Given the description of an element on the screen output the (x, y) to click on. 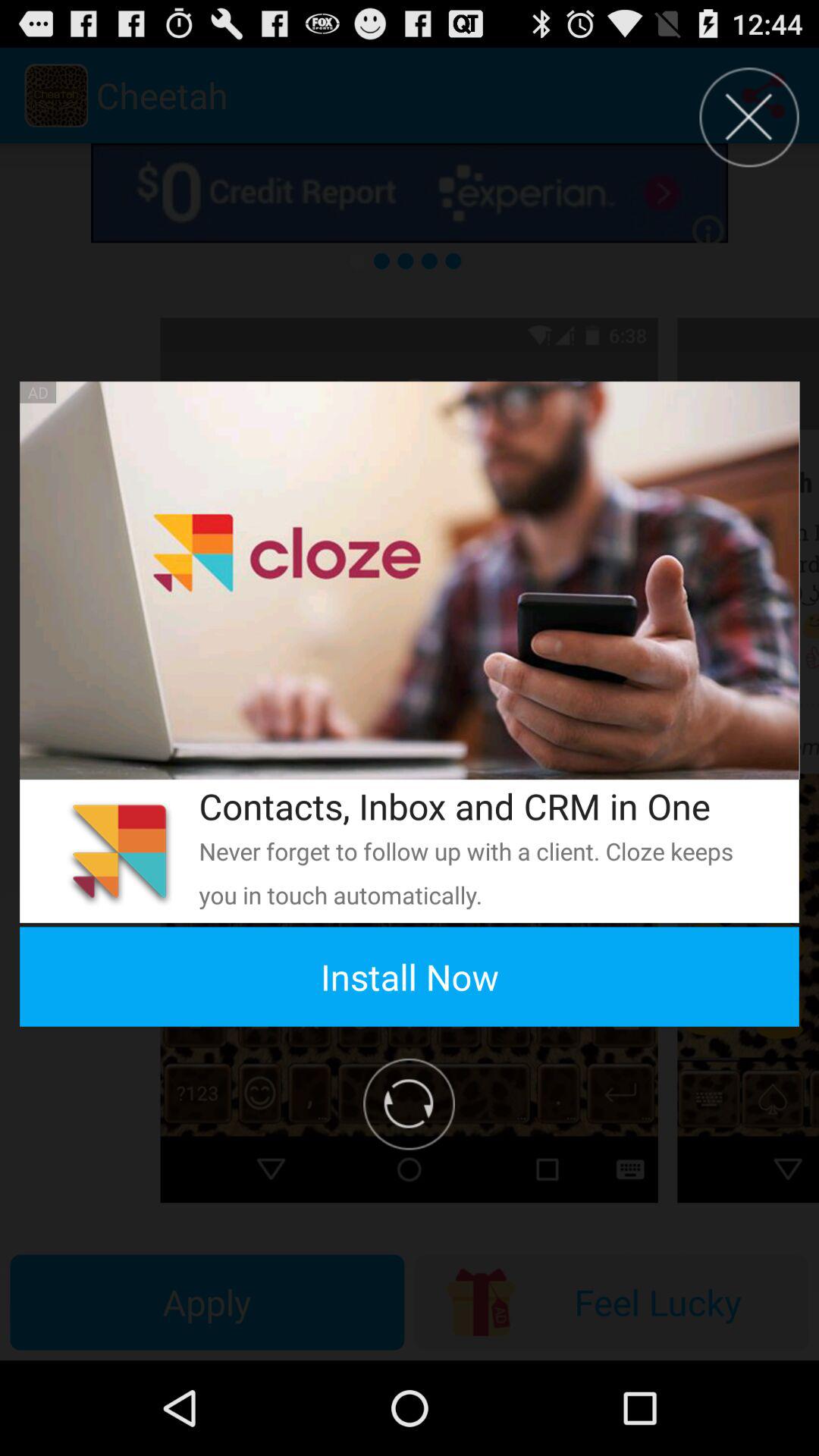
open icon next to contacts inbox and (119, 851)
